Given the description of an element on the screen output the (x, y) to click on. 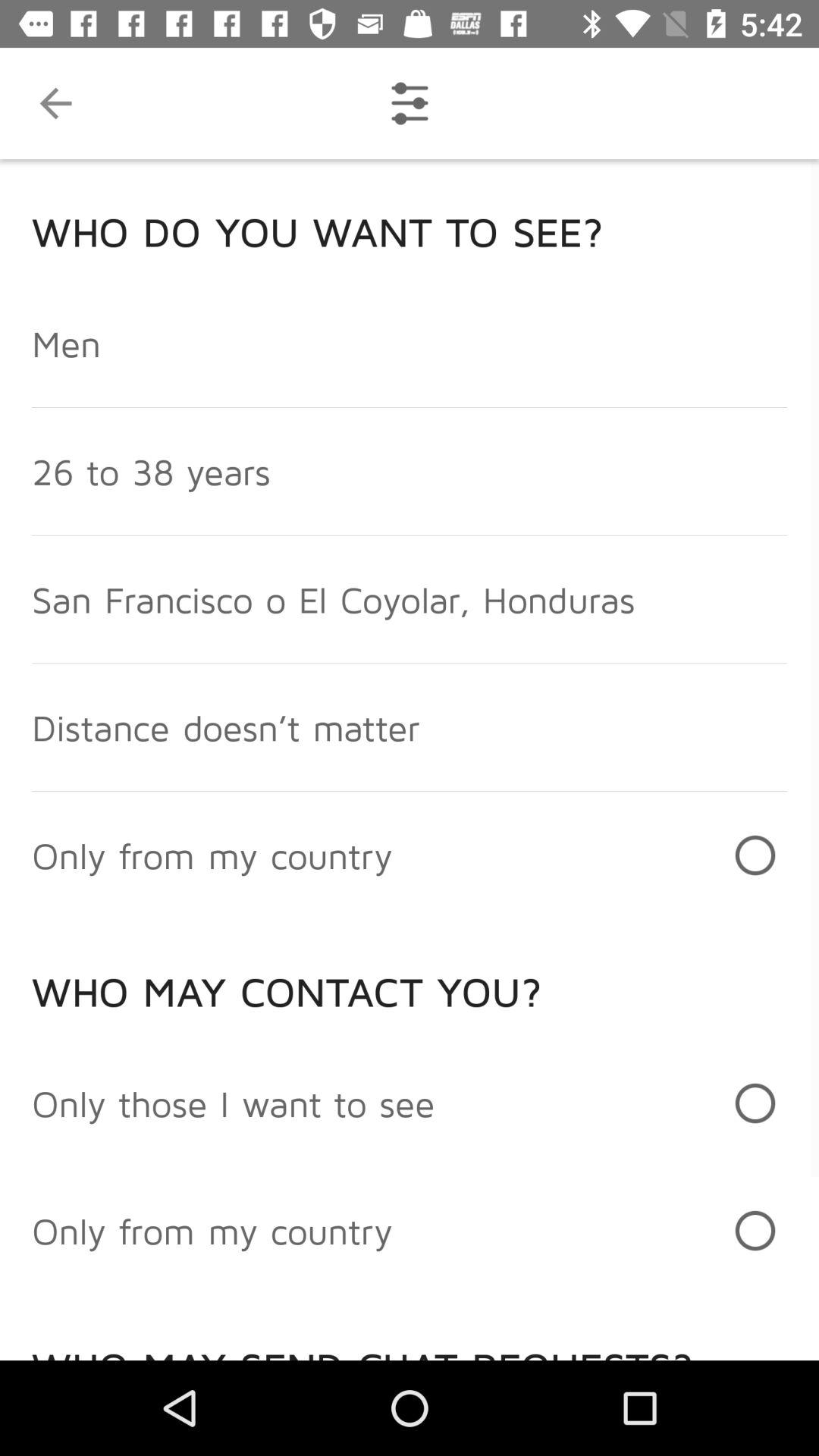
turn off the 26 to 38 icon (150, 471)
